Given the description of an element on the screen output the (x, y) to click on. 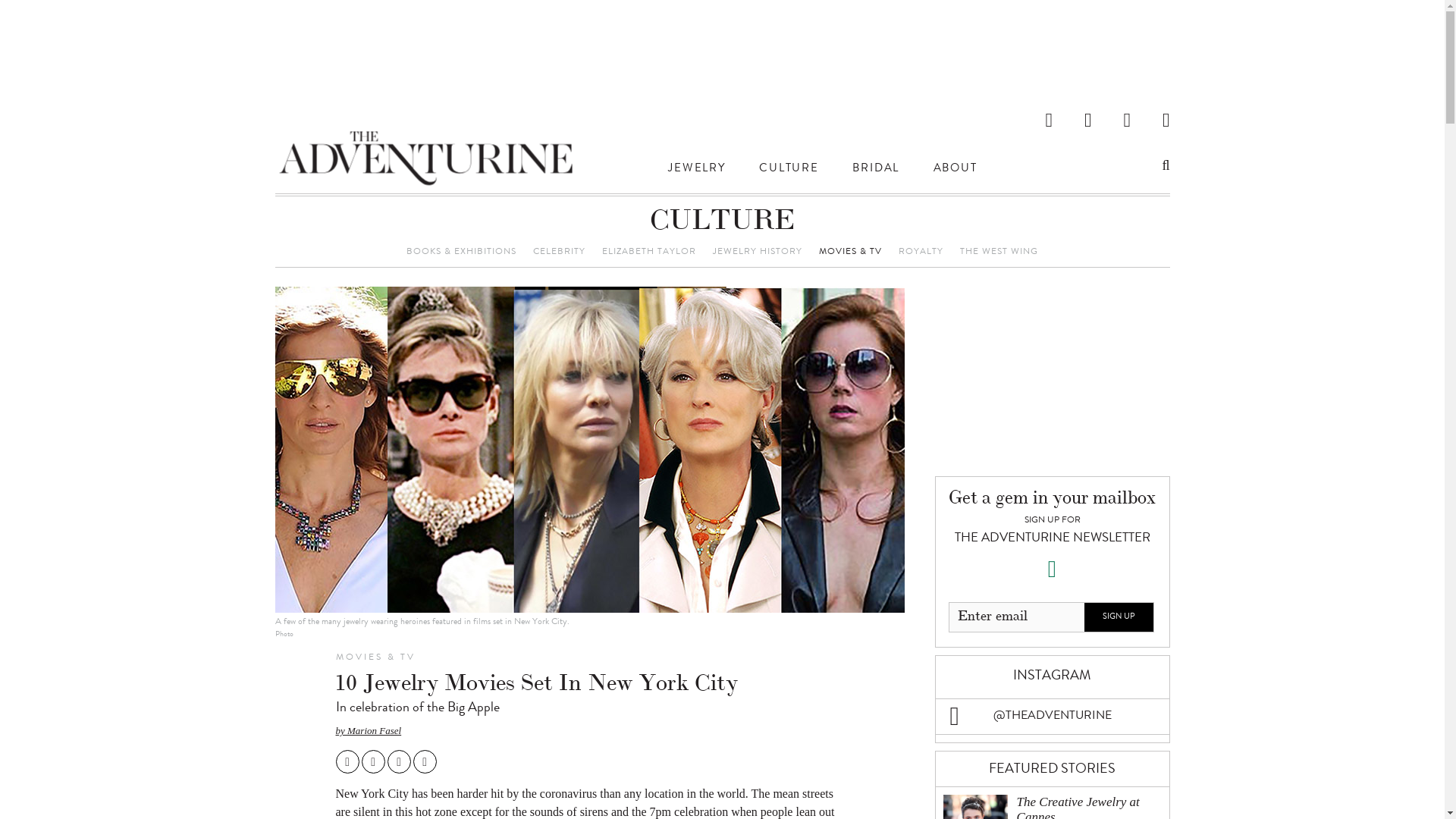
ROYALTY (920, 252)
The Adventurine (425, 159)
CULTURE (788, 169)
by Marion Fasel (367, 730)
JEWELRY HISTORY (757, 252)
CELEBRITY (558, 252)
CULTURE (721, 222)
JEWELRY (696, 169)
ABOUT (954, 169)
THE WEST WING (998, 252)
ELIZABETH TAYLOR (648, 252)
BRIDAL (875, 169)
